Given the description of an element on the screen output the (x, y) to click on. 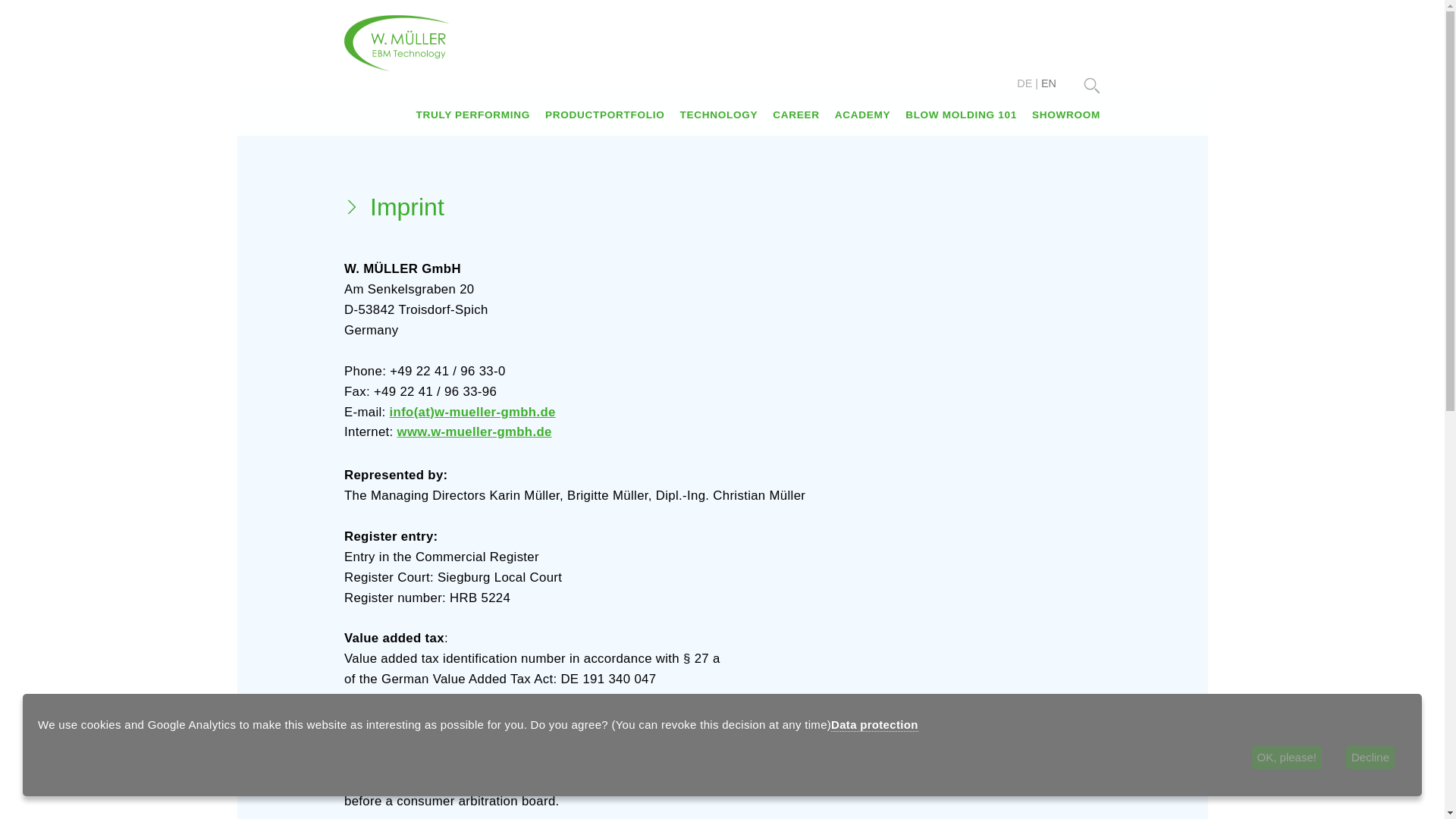
DE (1024, 82)
German (1024, 82)
PRODUCTPORTFOLIO (603, 114)
TRULY PERFORMING (471, 114)
Suche (1091, 85)
Home (397, 43)
EN (1049, 82)
TECHNOLOGY (718, 114)
English (1049, 82)
CAREER (795, 114)
